Given the description of an element on the screen output the (x, y) to click on. 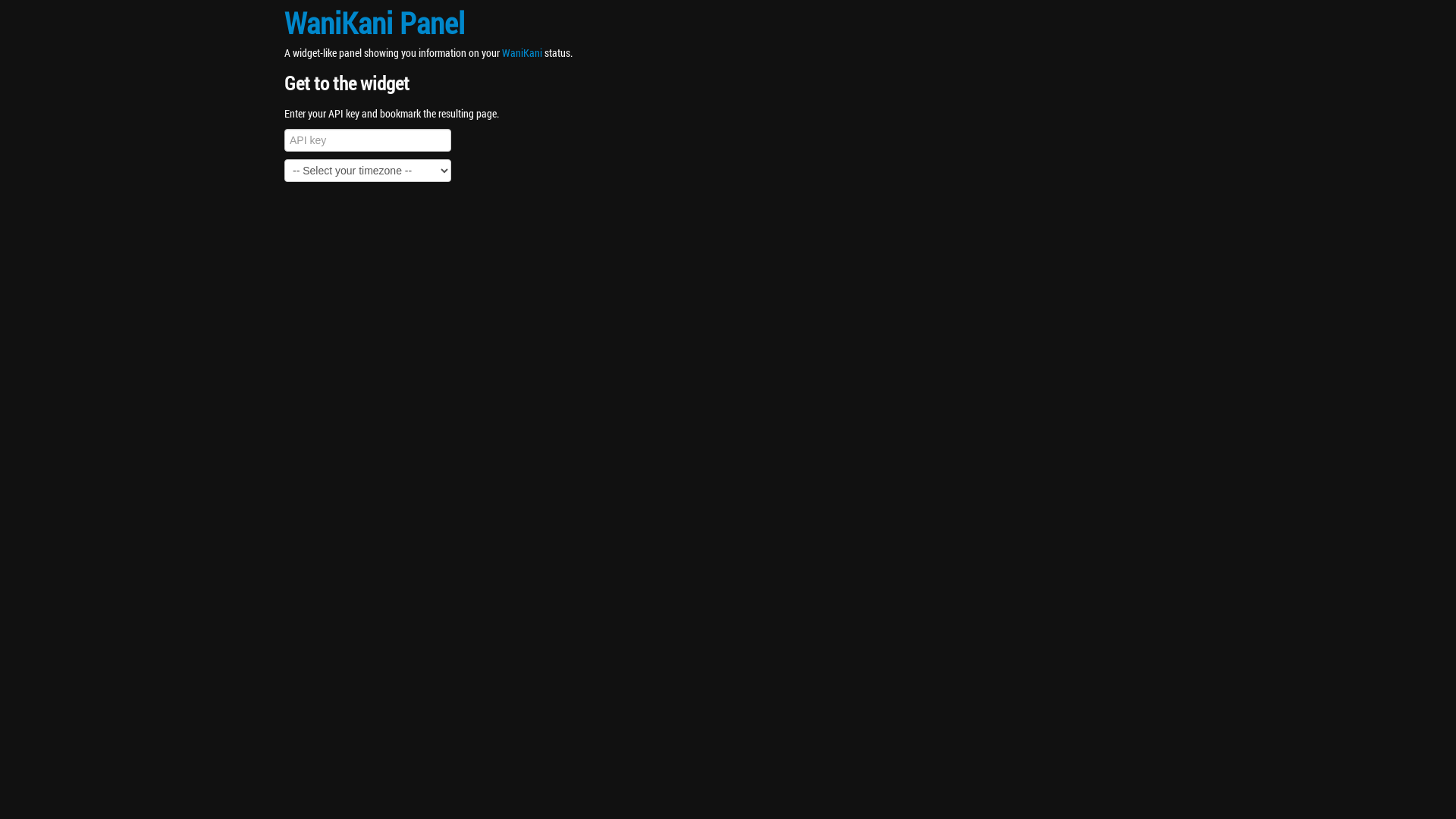
WaniKani Element type: text (522, 52)
WaniKani Panel Element type: text (374, 22)
